Given the description of an element on the screen output the (x, y) to click on. 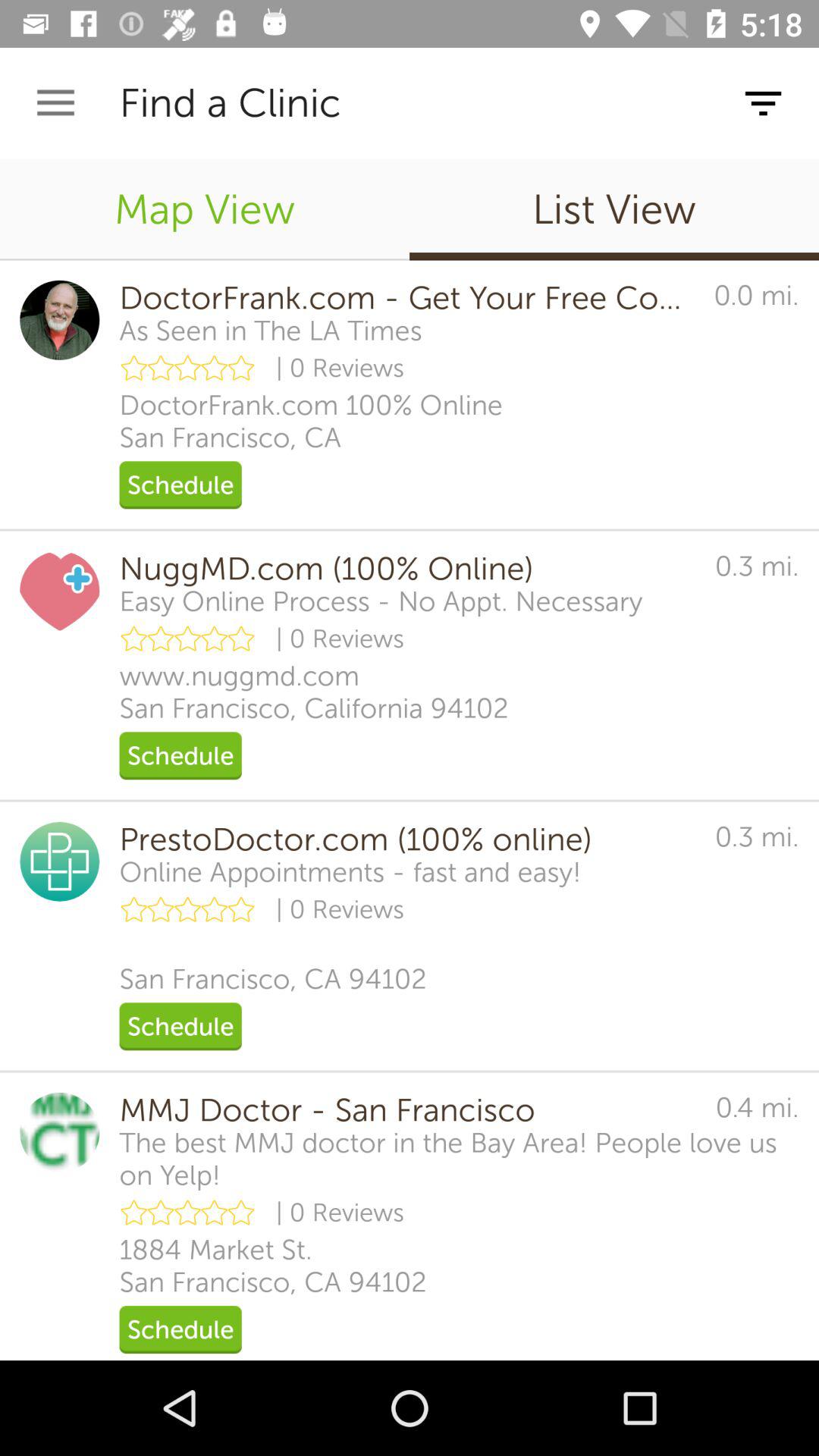
open icon above schedule item (272, 1265)
